Given the description of an element on the screen output the (x, y) to click on. 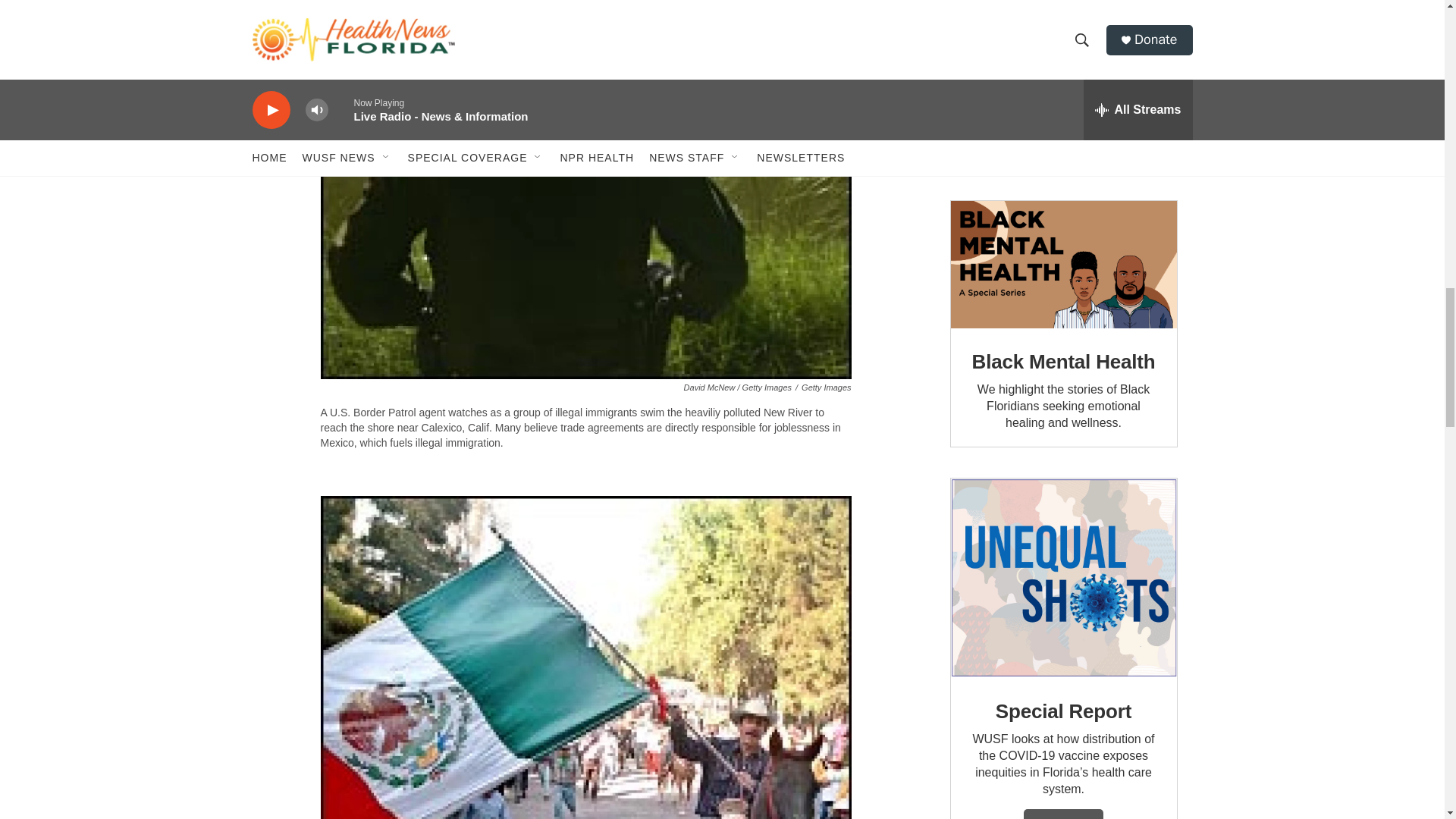
3rd party ad content (1062, 84)
